Given the description of an element on the screen output the (x, y) to click on. 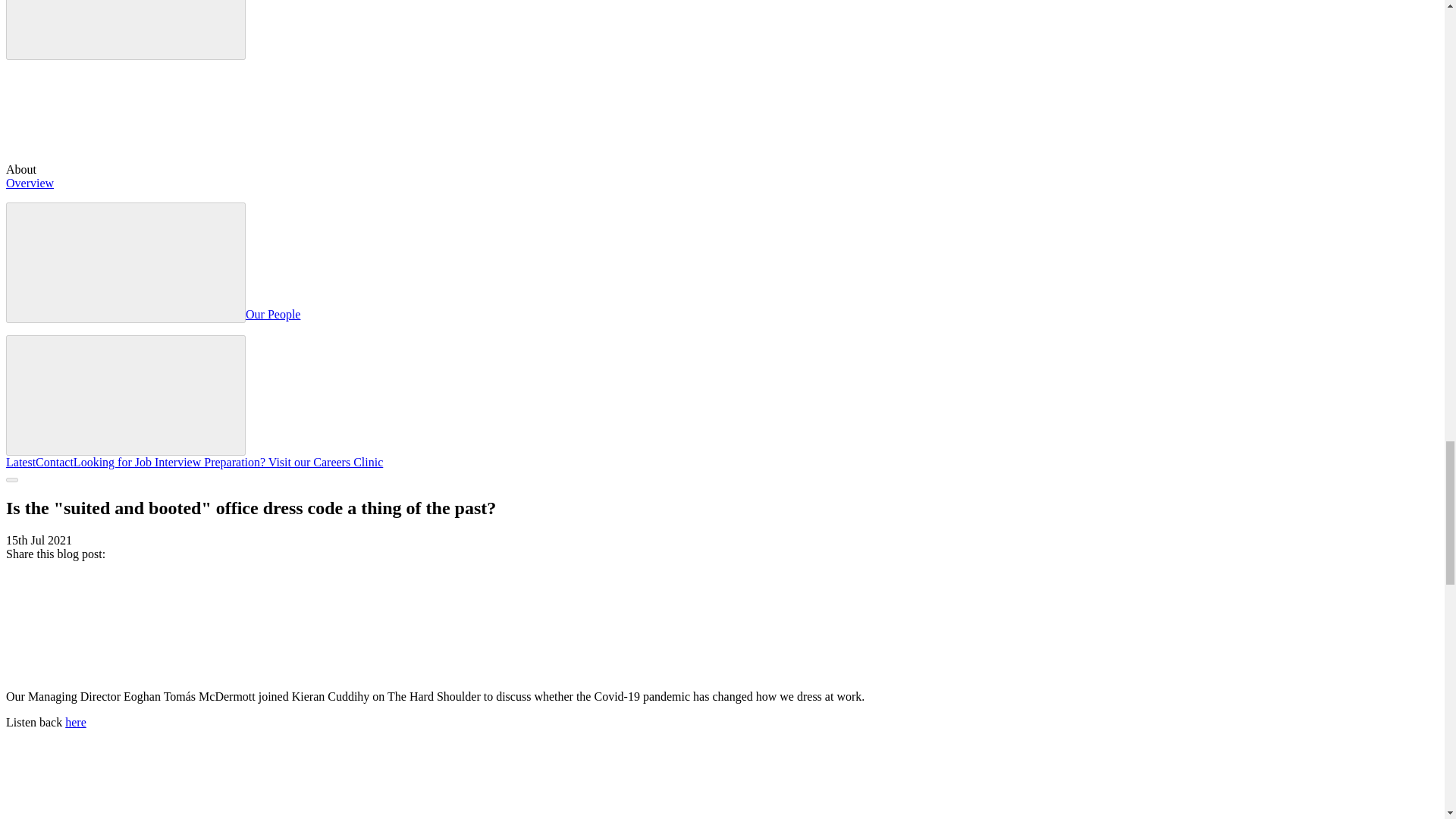
Email (801, 670)
Latest (19, 461)
Twitter (346, 670)
LinkedIn (574, 670)
Contact (54, 461)
WhatsApp (1028, 670)
Facebook (118, 670)
